Given the description of an element on the screen output the (x, y) to click on. 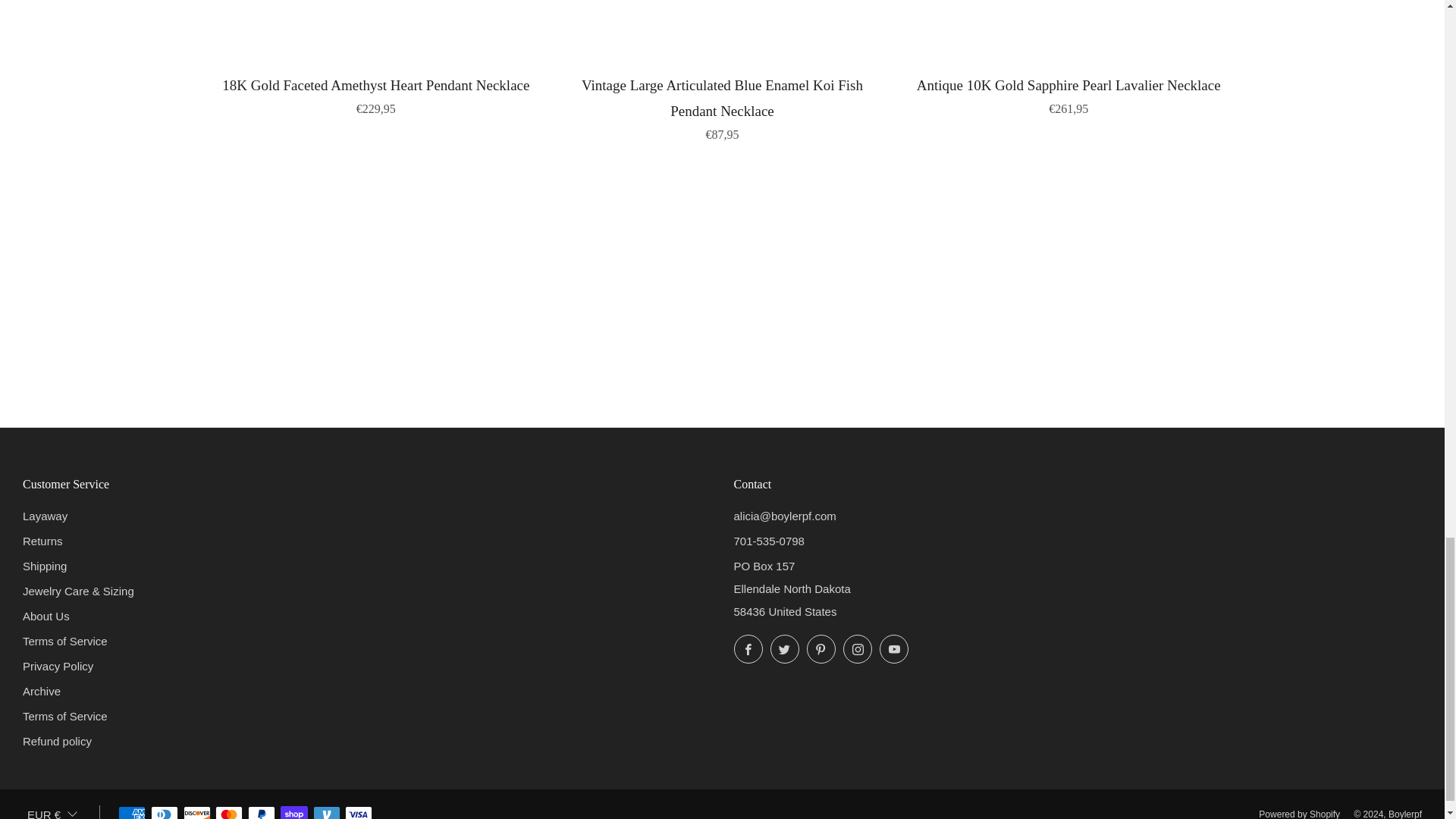
PayPal (261, 808)
Diners Club (164, 808)
Visa (358, 808)
18K Gold Faceted Amethyst Heart Pendant Necklace (376, 93)
Antique 10K Gold Sapphire Pearl Lavalier Necklace (1068, 93)
Mastercard (229, 808)
Venmo (326, 808)
Discover (197, 808)
American Express (131, 808)
